Given the description of an element on the screen output the (x, y) to click on. 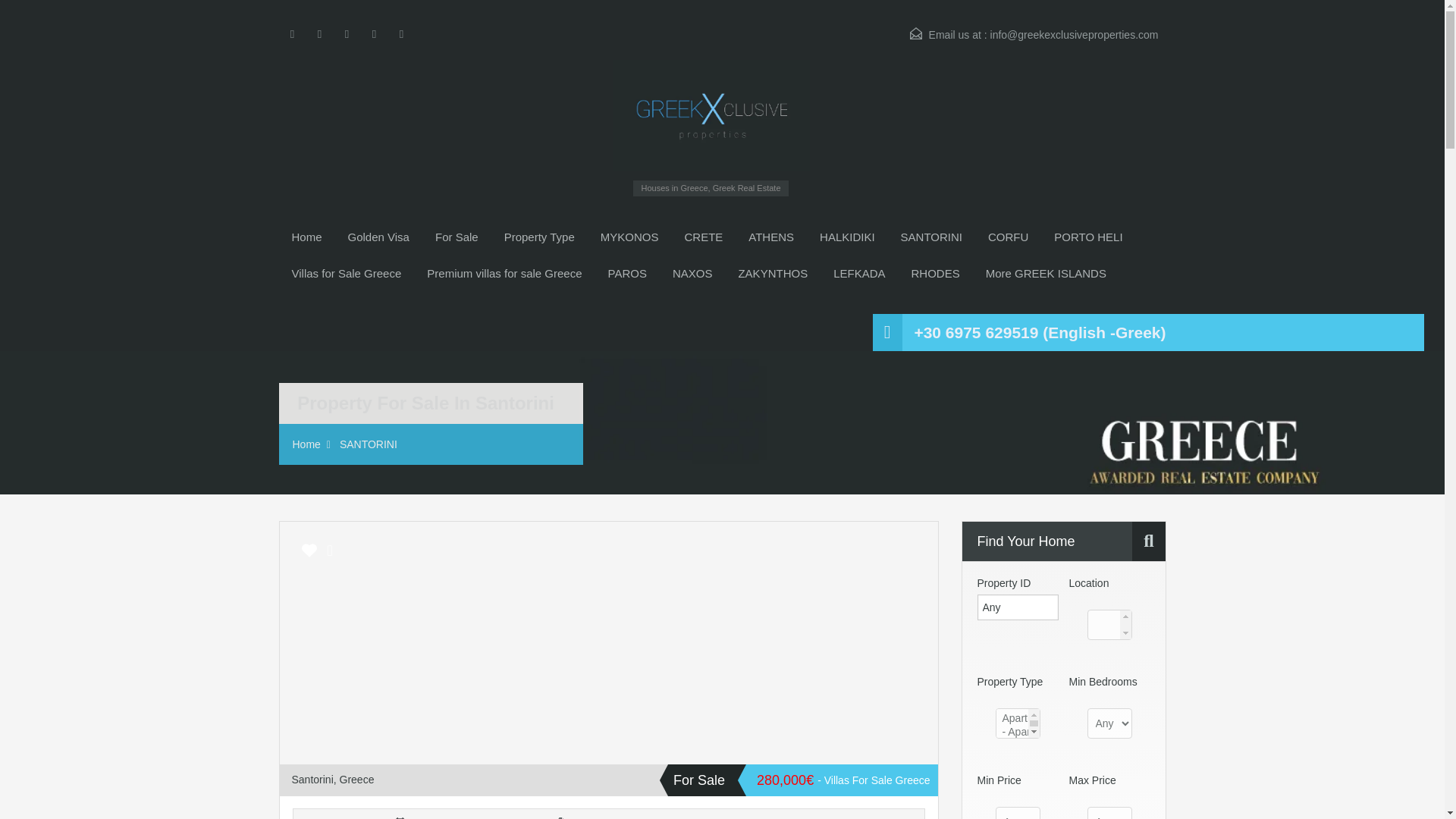
Homes for Sale in Greece (457, 237)
Golden Visa (378, 237)
Golden Visa (378, 237)
Home (306, 237)
Greek Exclusive Properties, Real Estate Greece (710, 115)
Real Estate Greece (306, 237)
For Sale (457, 237)
Property Type (540, 237)
